Given the description of an element on the screen output the (x, y) to click on. 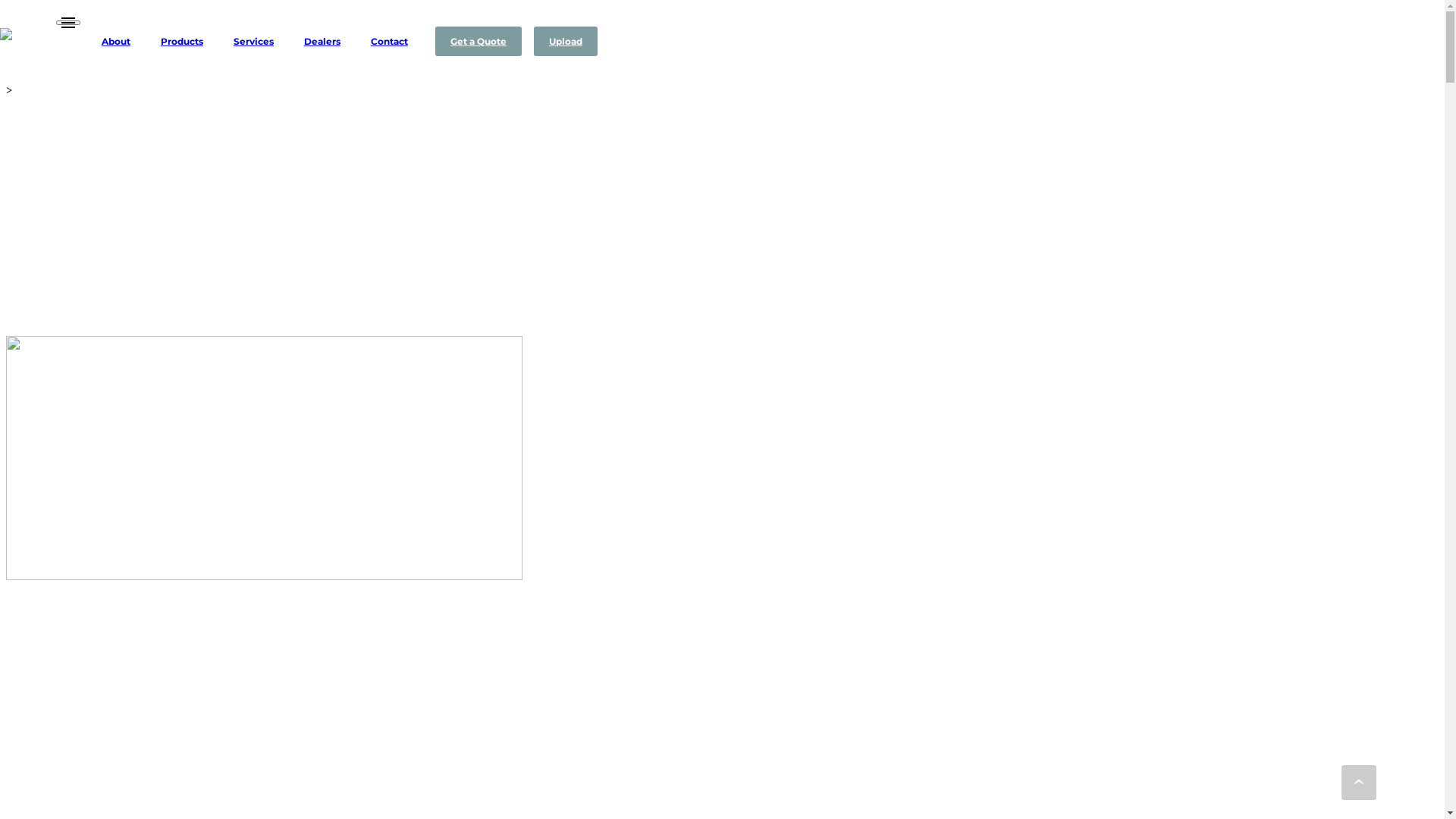
Upload Element type: text (565, 40)
Dealers Element type: text (322, 41)
Services Element type: text (253, 41)
Contact Element type: text (388, 41)
Products Element type: text (181, 41)
Get a Quote Element type: text (478, 40)
About Element type: text (115, 41)
